Given the description of an element on the screen output the (x, y) to click on. 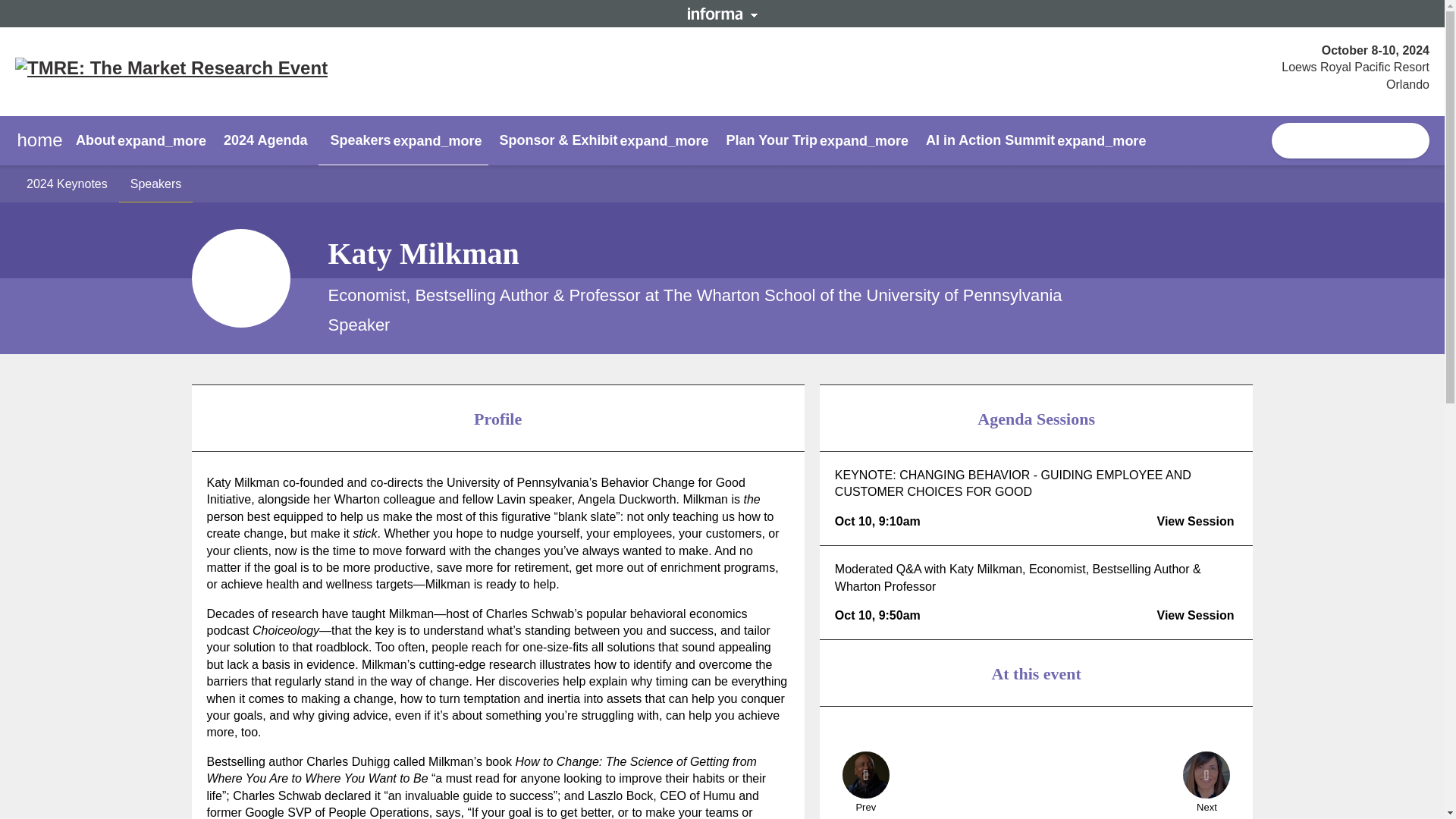
Speakers (156, 183)
2024 Keynotes (66, 183)
Book Now (1350, 140)
home (39, 140)
2024 Agenda (265, 140)
